Given the description of an element on the screen output the (x, y) to click on. 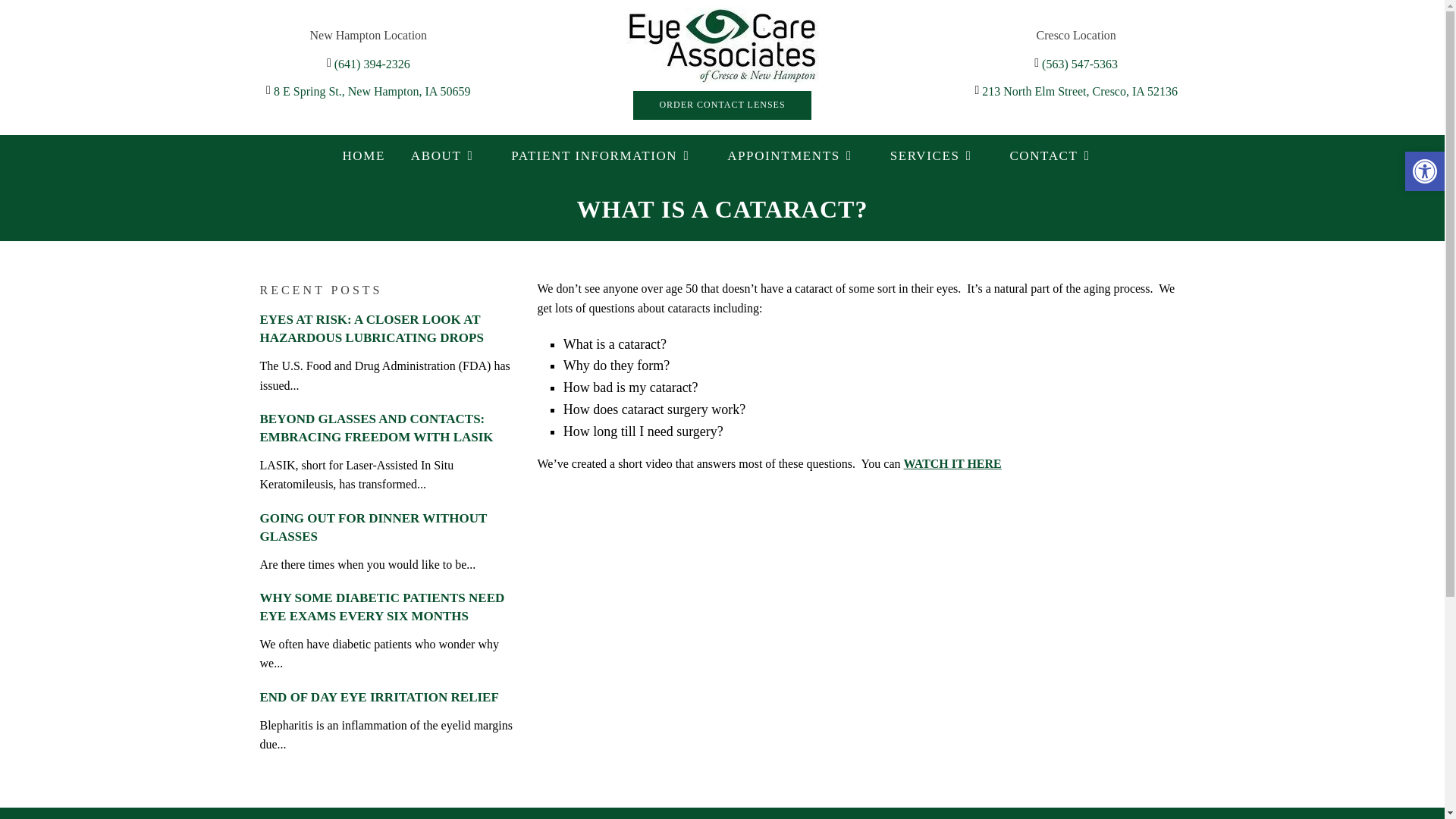
213 North Elm Street, Cresco, IA 52136 (1079, 91)
EYES AT RISK: A CLOSER LOOK AT HAZARDOUS LUBRICATING DROPS (371, 328)
8 E Spring St., New Hampton, IA 50659 (371, 91)
PATIENT INFORMATION (606, 155)
Accessibility Tools (1424, 170)
SERVICES (936, 155)
GOING OUT FOR DINNER WITHOUT GLASSES (372, 527)
ORDER CONTACT LENSES (721, 104)
CONTACT (1055, 155)
ABOUT (448, 155)
HOME (362, 155)
BEYOND GLASSES AND CONTACTS: EMBRACING FREEDOM WITH LASIK (376, 427)
APPOINTMENTS (795, 155)
